Given the description of an element on the screen output the (x, y) to click on. 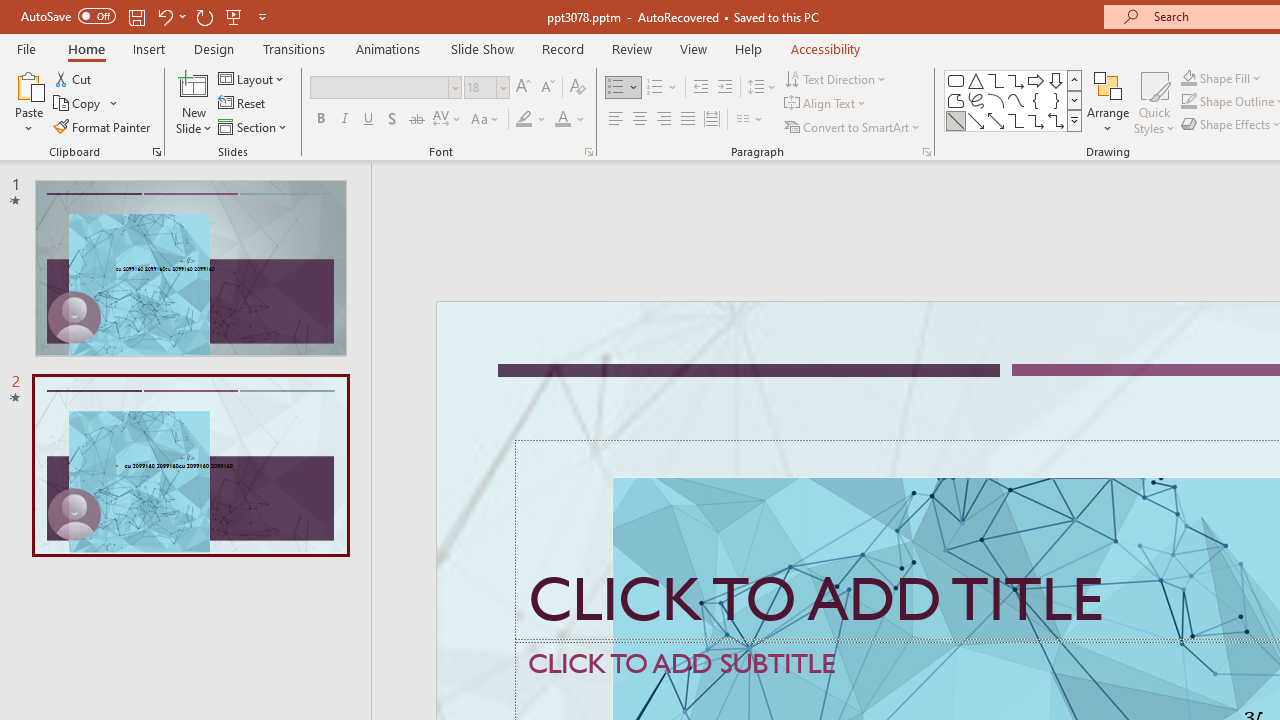
Connector: Elbow Double-Arrow (1055, 120)
Shape Fill Dark Green, Accent 2 (1188, 78)
